Given the description of an element on the screen output the (x, y) to click on. 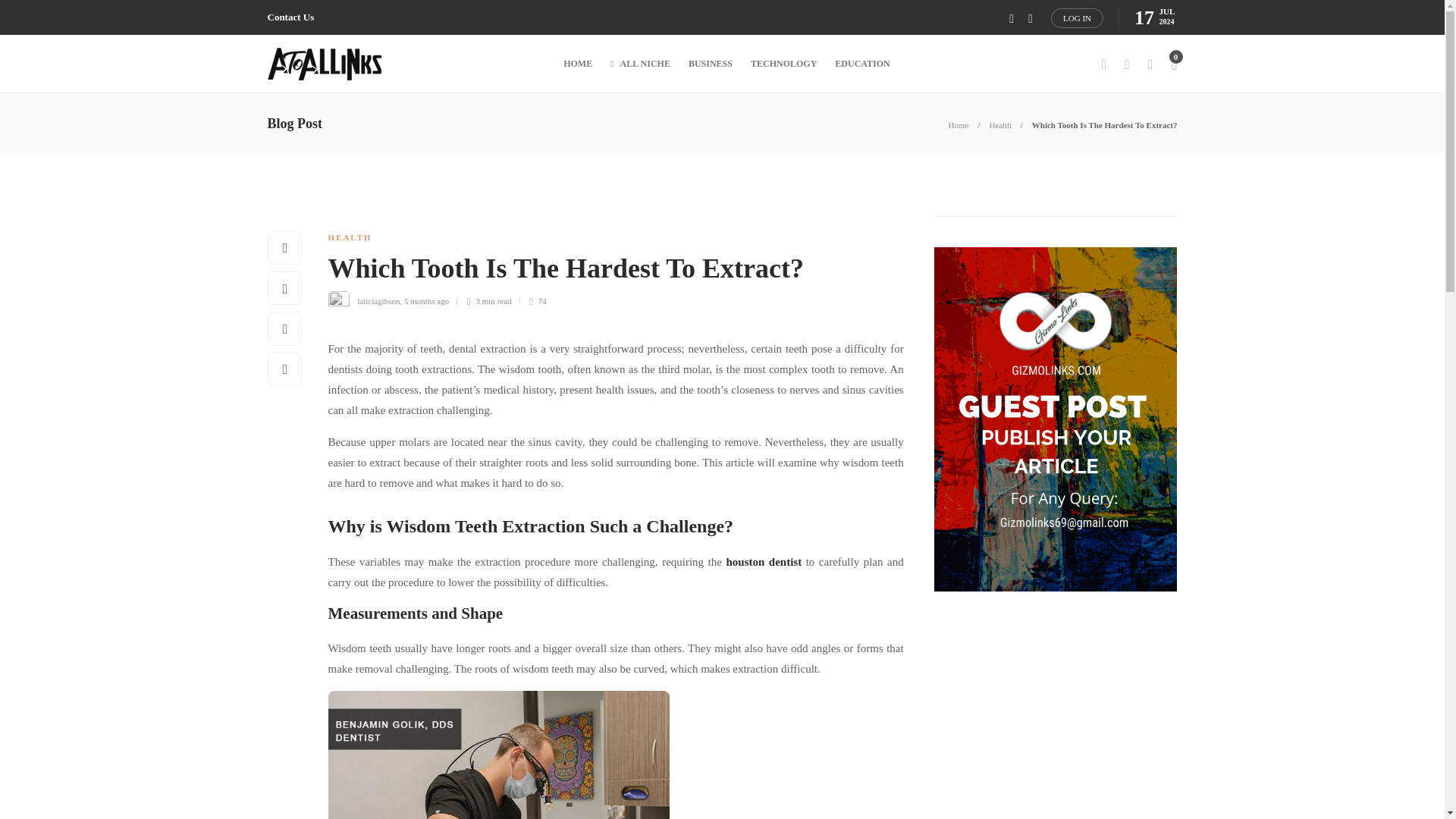
Contact Us (290, 17)
HEALTH (349, 236)
Which Tooth Is The Hardest To Extract? (1104, 124)
5 months ago (426, 300)
Home (957, 124)
Health (999, 124)
BUSINESS (710, 63)
LOG IN (1077, 17)
Home (957, 124)
ALL NICHE (639, 63)
laticiagibson (377, 300)
TECHNOLOGY (783, 63)
HOME (577, 63)
0 (1173, 63)
Which Tooth Is The Hardest To Extract?  (603, 272)
